Given the description of an element on the screen output the (x, y) to click on. 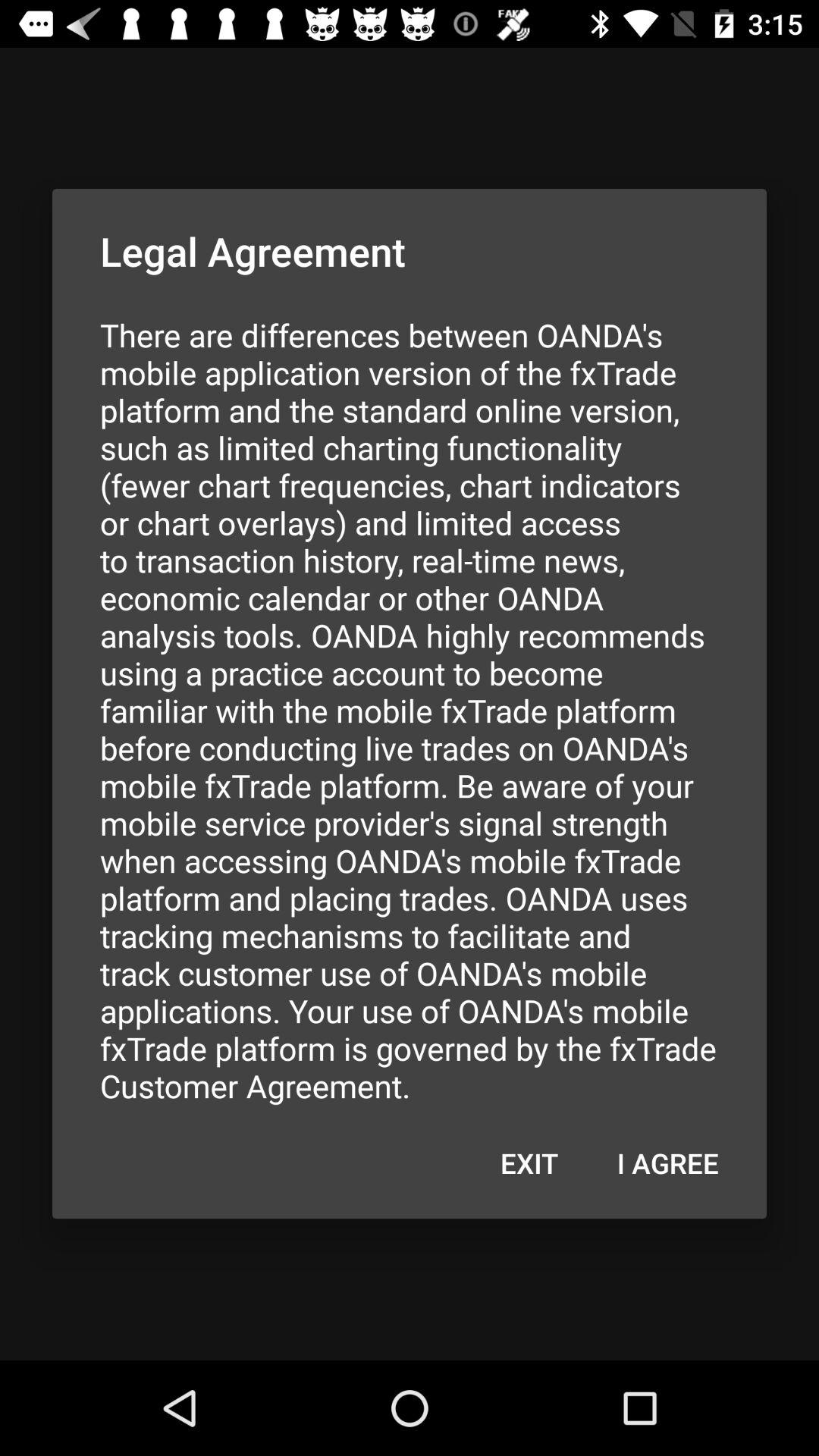
choose icon next to i agree (529, 1162)
